Given the description of an element on the screen output the (x, y) to click on. 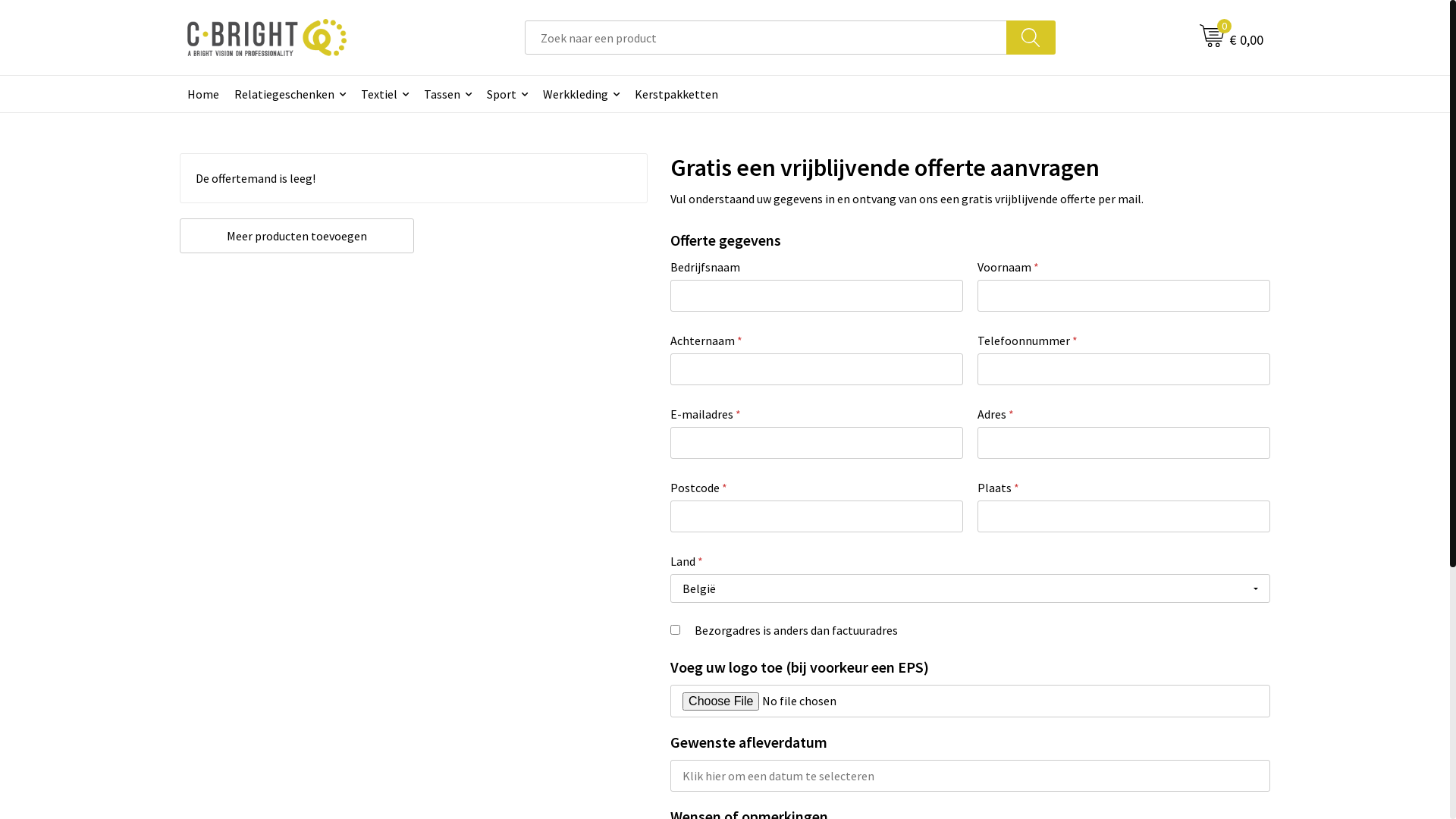
Tassen Element type: text (446, 93)
Home Element type: text (201, 93)
Werkkleding Element type: text (581, 93)
Meer producten toevoegen Element type: text (296, 235)
Sport Element type: text (507, 93)
Relatiegeschenken Element type: text (288, 93)
Kerstpakketten Element type: text (675, 93)
Textiel Element type: text (384, 93)
